Given the description of an element on the screen output the (x, y) to click on. 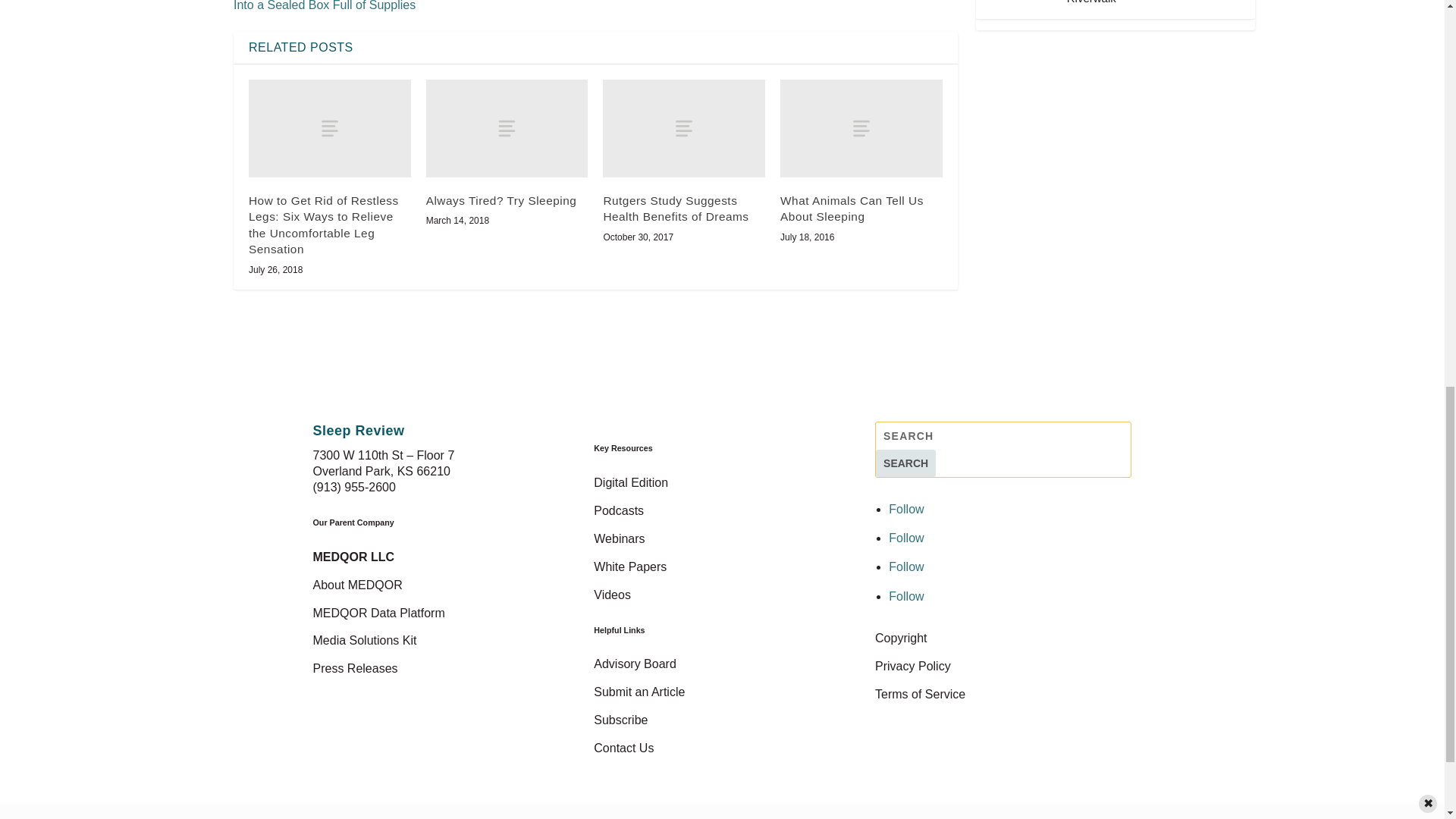
Search (906, 462)
Search (906, 462)
Always Tired? Try Sleeping (507, 127)
